Given the description of an element on the screen output the (x, y) to click on. 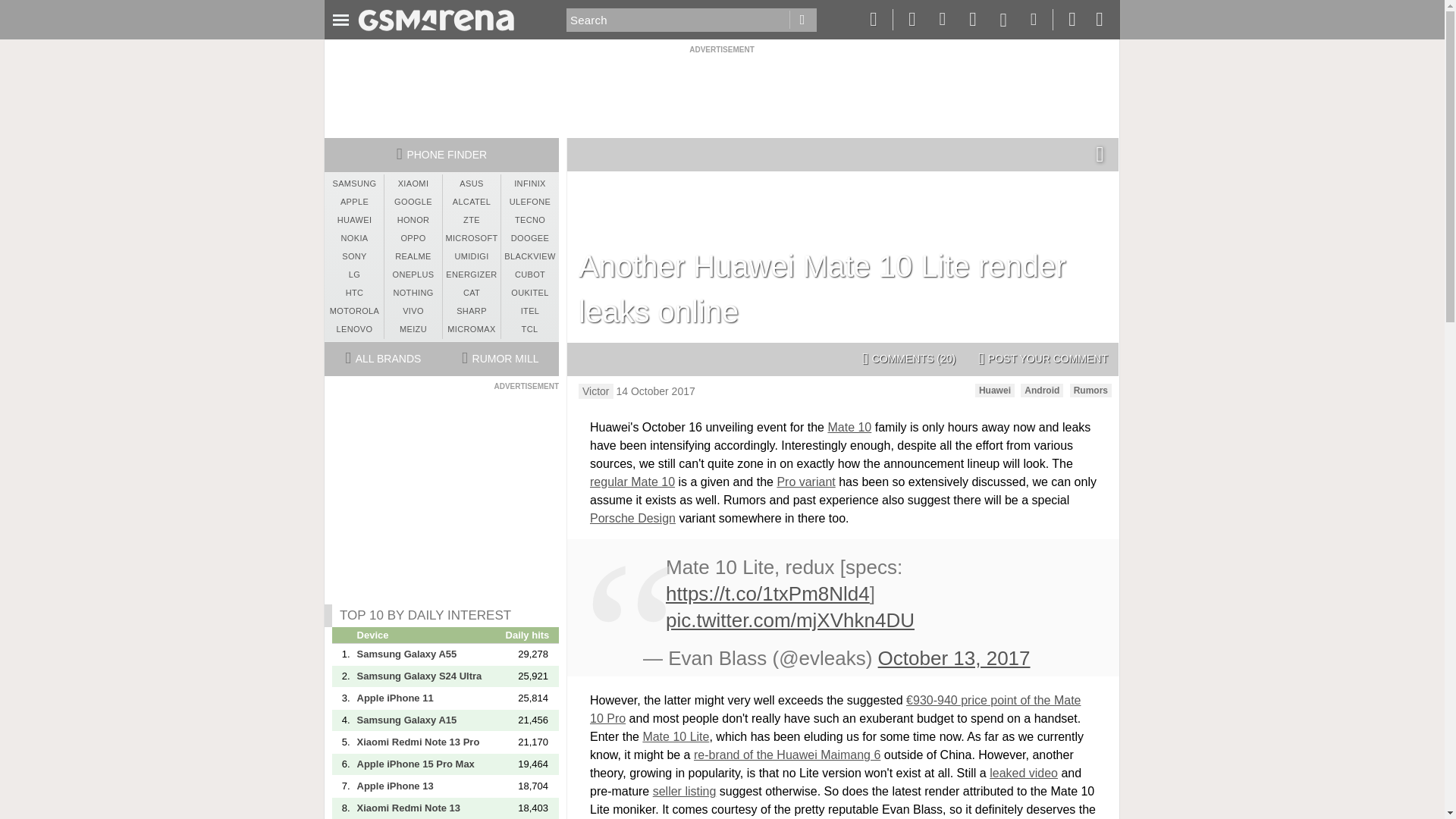
Mate 10 (848, 427)
Pro variant (805, 481)
regular Mate 10 (632, 481)
Go (802, 19)
Victor (595, 391)
Huawei (994, 390)
Go (802, 19)
Android (1041, 390)
POST YOUR COMMENT (1042, 359)
Rumors (1091, 390)
